Given the description of an element on the screen output the (x, y) to click on. 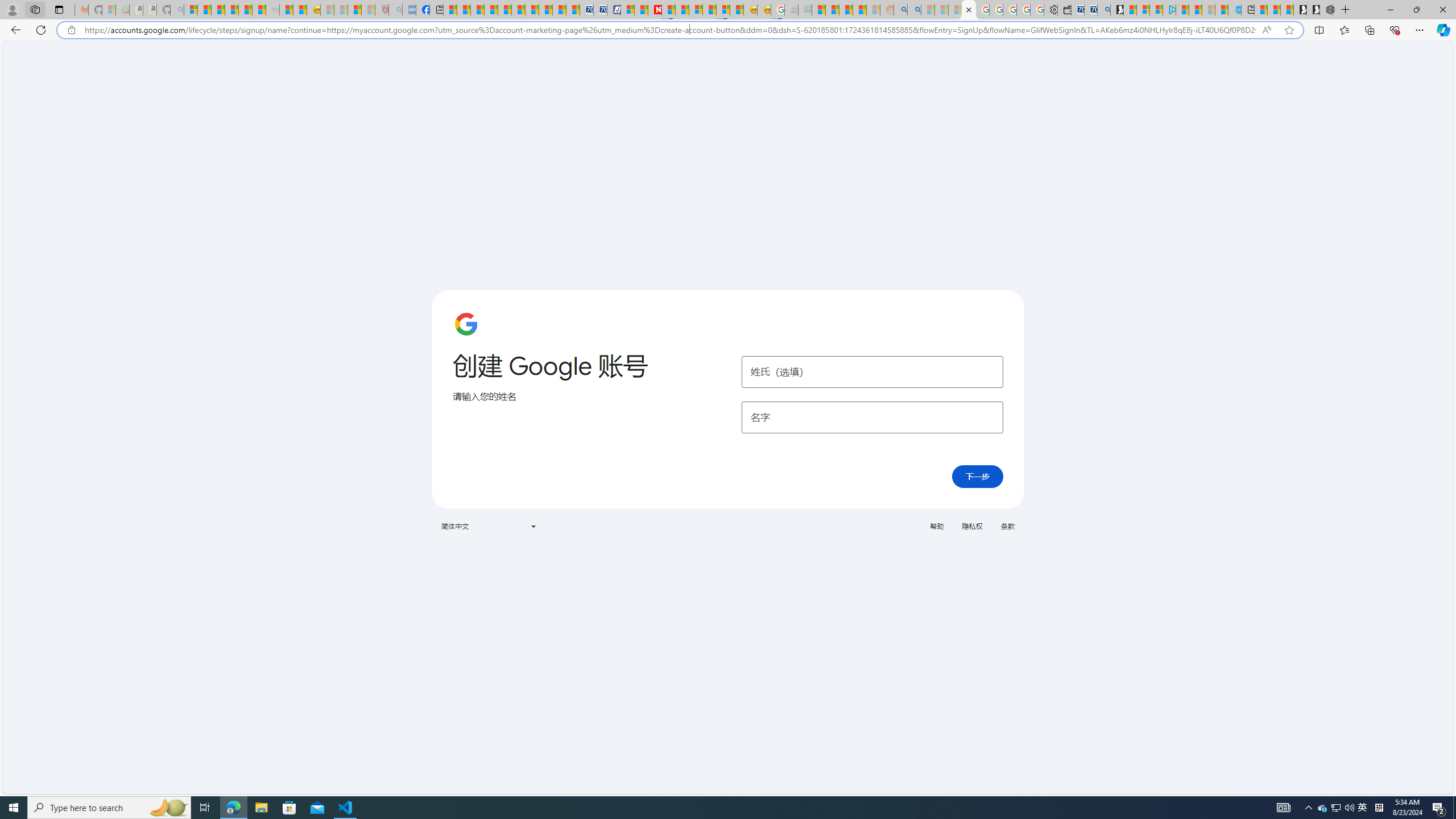
12 Popular Science Lies that Must be Corrected - Sleeping (368, 9)
Climate Damage Becomes Too Severe To Reverse (490, 9)
Student Loan Update: Forgiveness Program Ends This Month (858, 9)
Latest Politics News & Archive | Newsweek.com (654, 9)
